Given the description of an element on the screen output the (x, y) to click on. 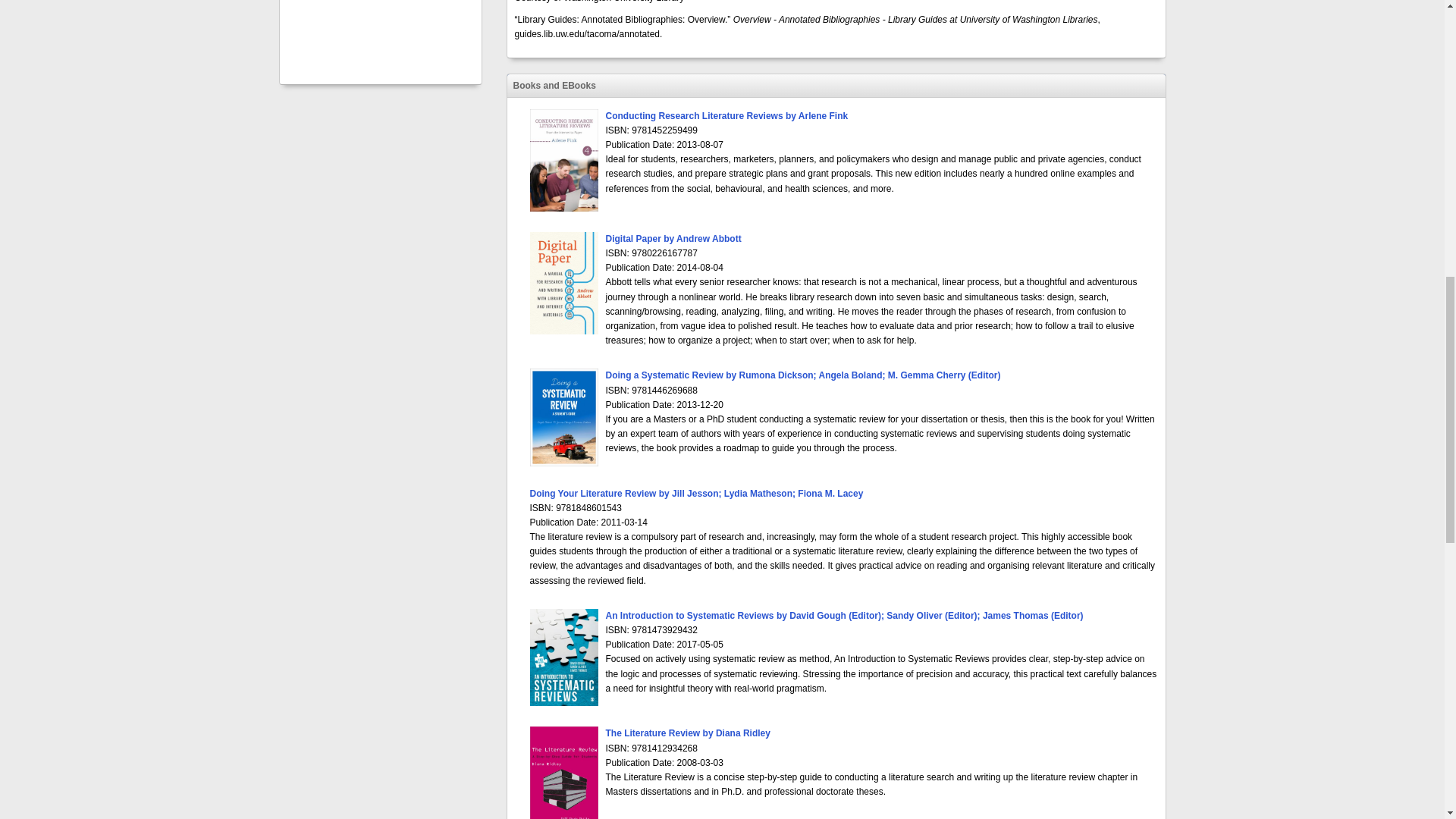
The Literature Review by Diana Ridley (687, 733)
Conducting Research Literature Reviews by Arlene Fink (726, 115)
Digital Paper by Andrew Abbott (673, 238)
